Given the description of an element on the screen output the (x, y) to click on. 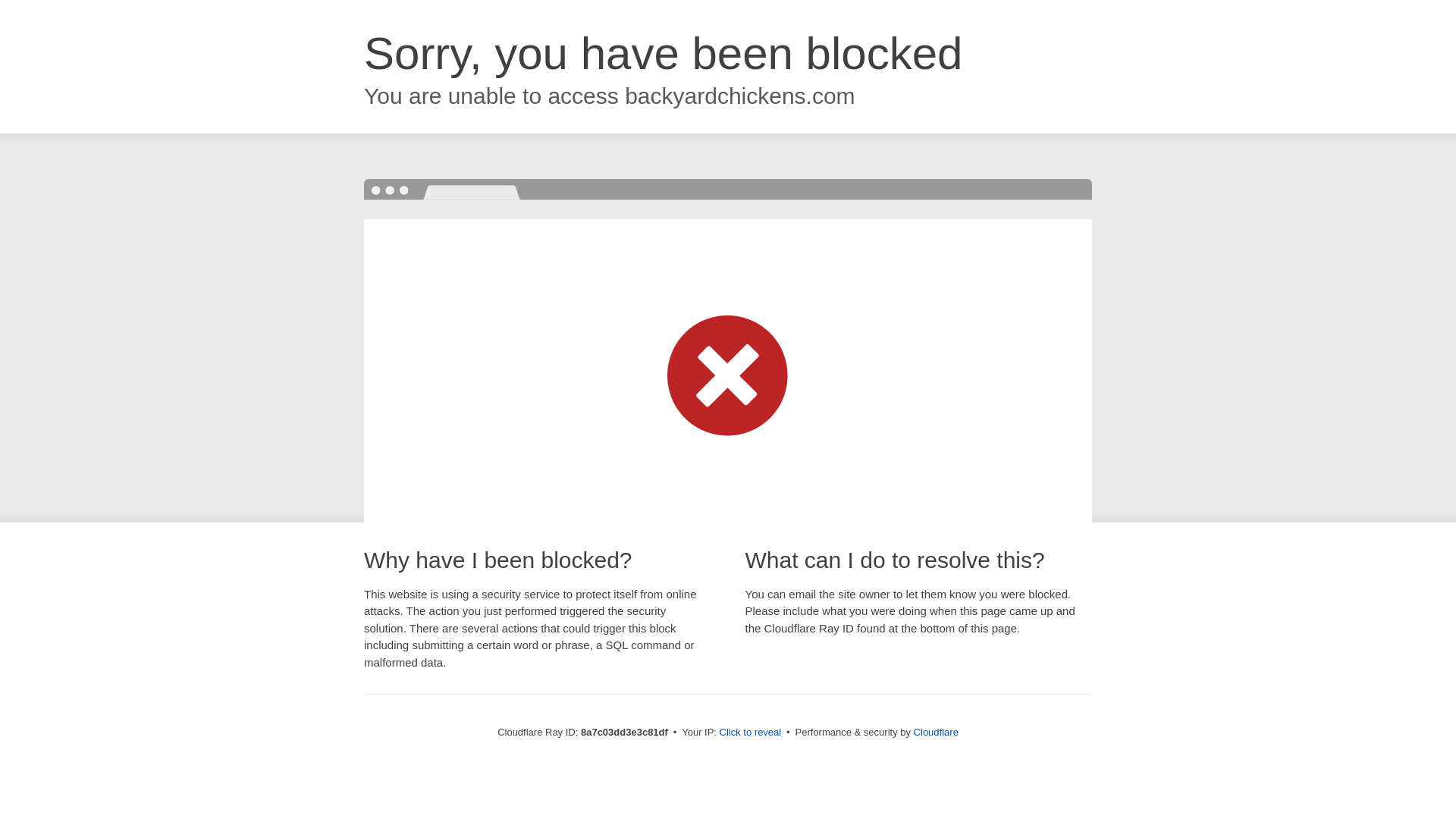
Click to reveal (750, 732)
Cloudflare (936, 731)
